Given the description of an element on the screen output the (x, y) to click on. 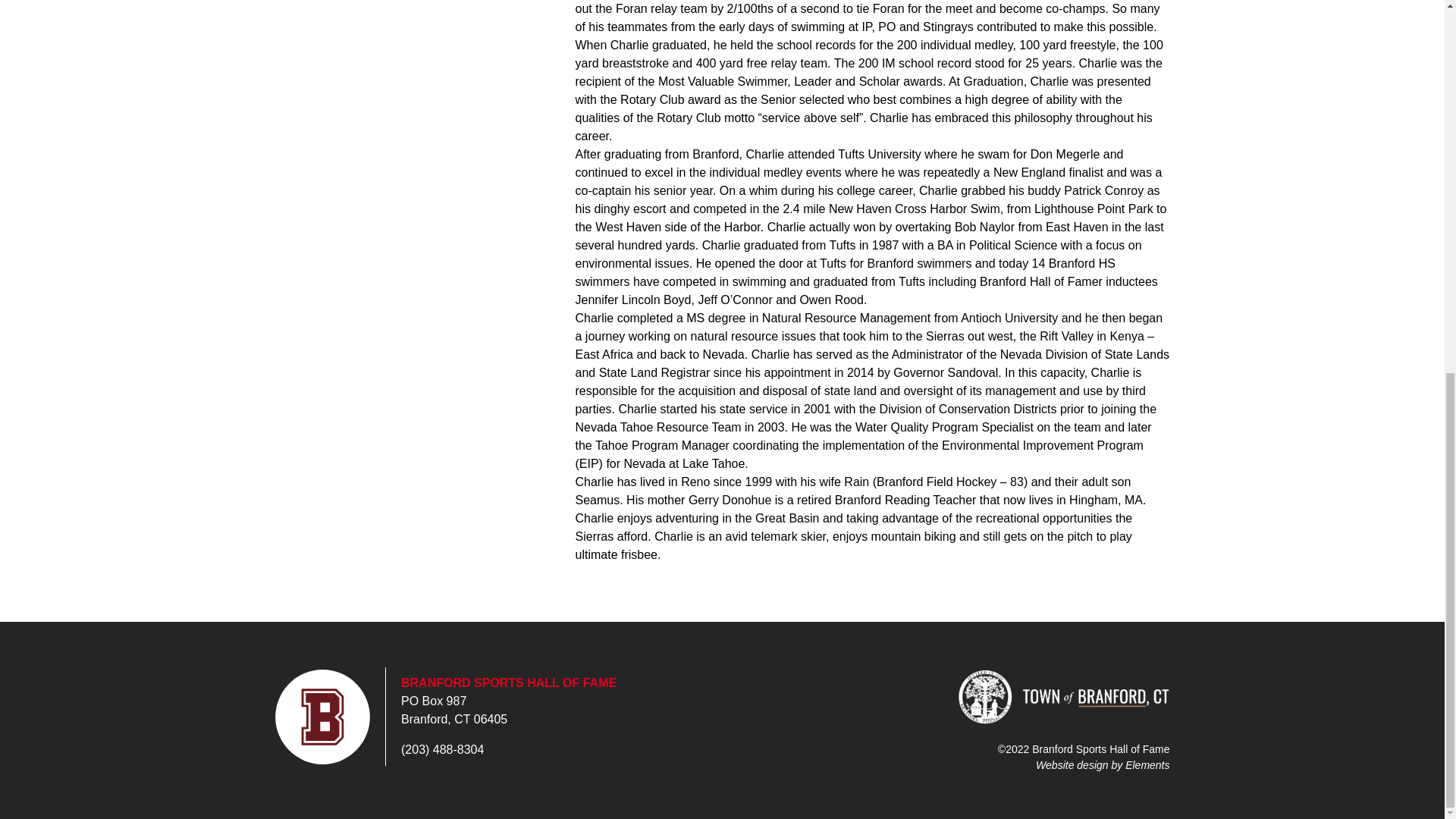
Elements (1147, 764)
